Given the description of an element on the screen output the (x, y) to click on. 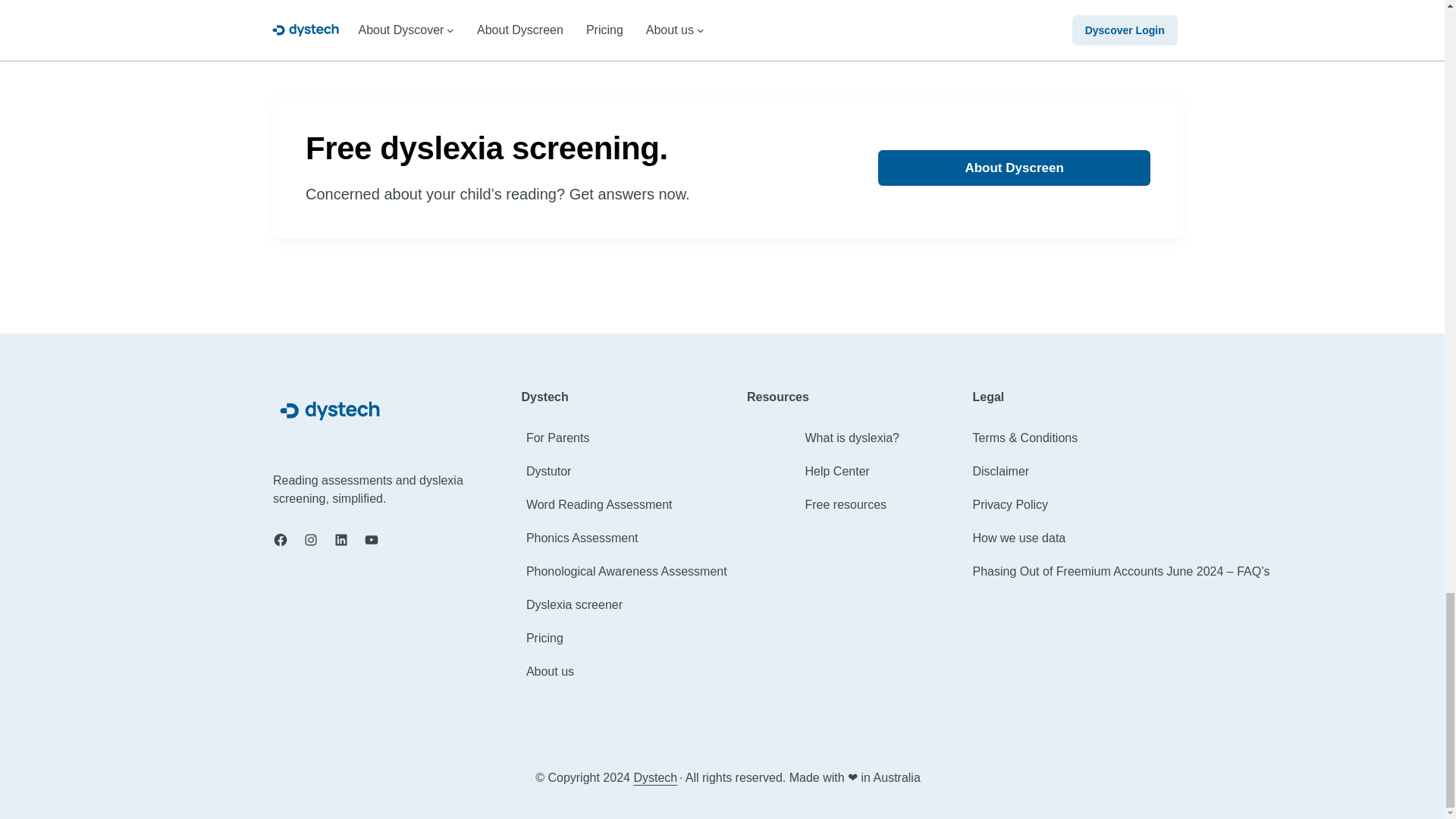
Phonological Awareness Assessment (625, 571)
Phonics Assessment (582, 538)
What is dyslexia? (852, 438)
Pricing (544, 638)
About us (549, 671)
For Parents (557, 438)
Word Reading Assessment (598, 505)
About Dyscreen (1013, 167)
Dystutor (548, 471)
Dyslexia screener (574, 605)
